Given the description of an element on the screen output the (x, y) to click on. 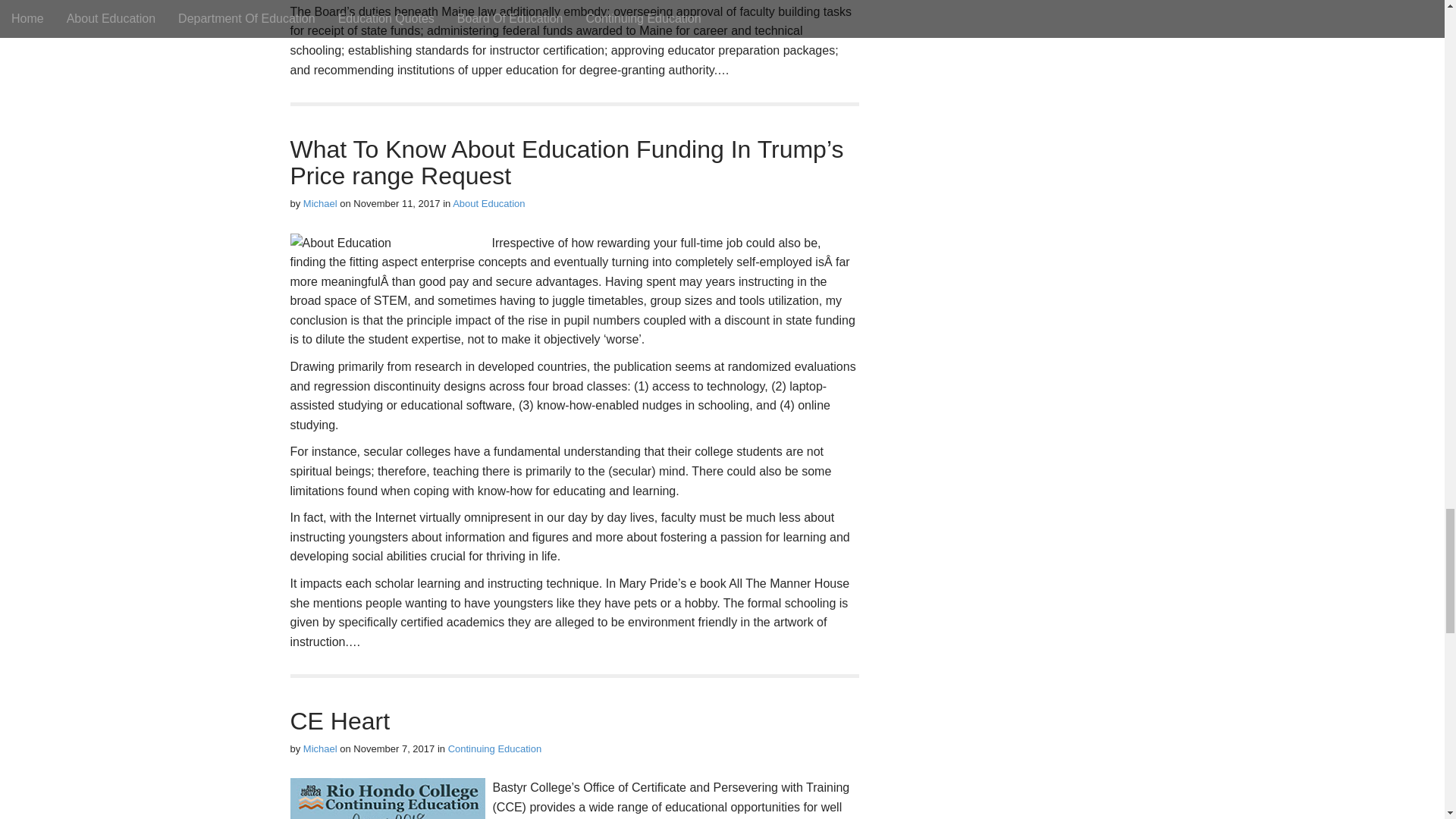
CE Heart (339, 720)
About Education (488, 203)
Continuing Education (494, 748)
Posts by Michael (319, 203)
November 7, 2017 (393, 748)
Posts by Michael (319, 748)
November 11, 2017 (396, 203)
Michael (319, 748)
Michael (319, 203)
